Given the description of an element on the screen output the (x, y) to click on. 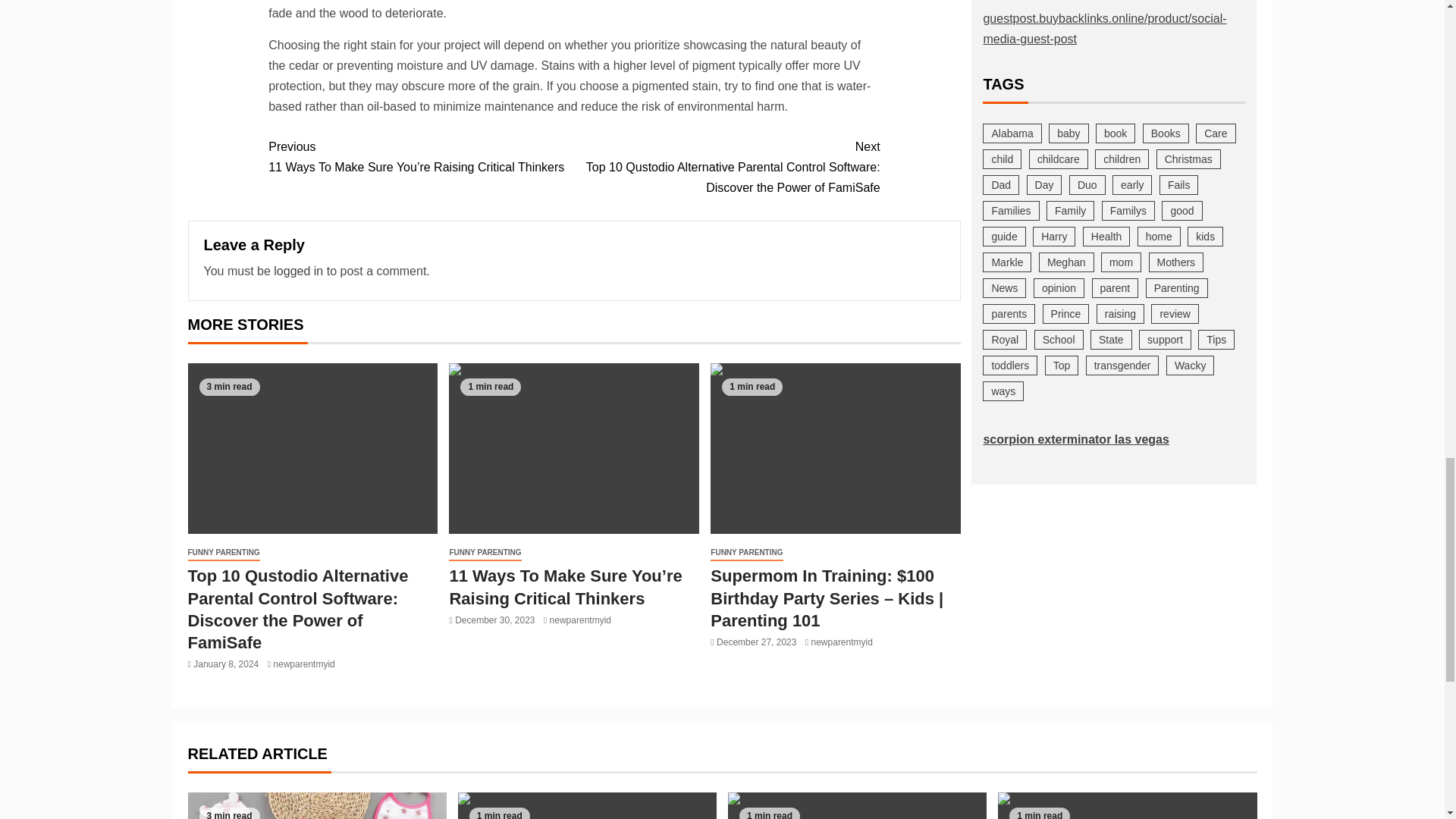
FUNNY PARENTING (223, 553)
logged in (298, 270)
